Given the description of an element on the screen output the (x, y) to click on. 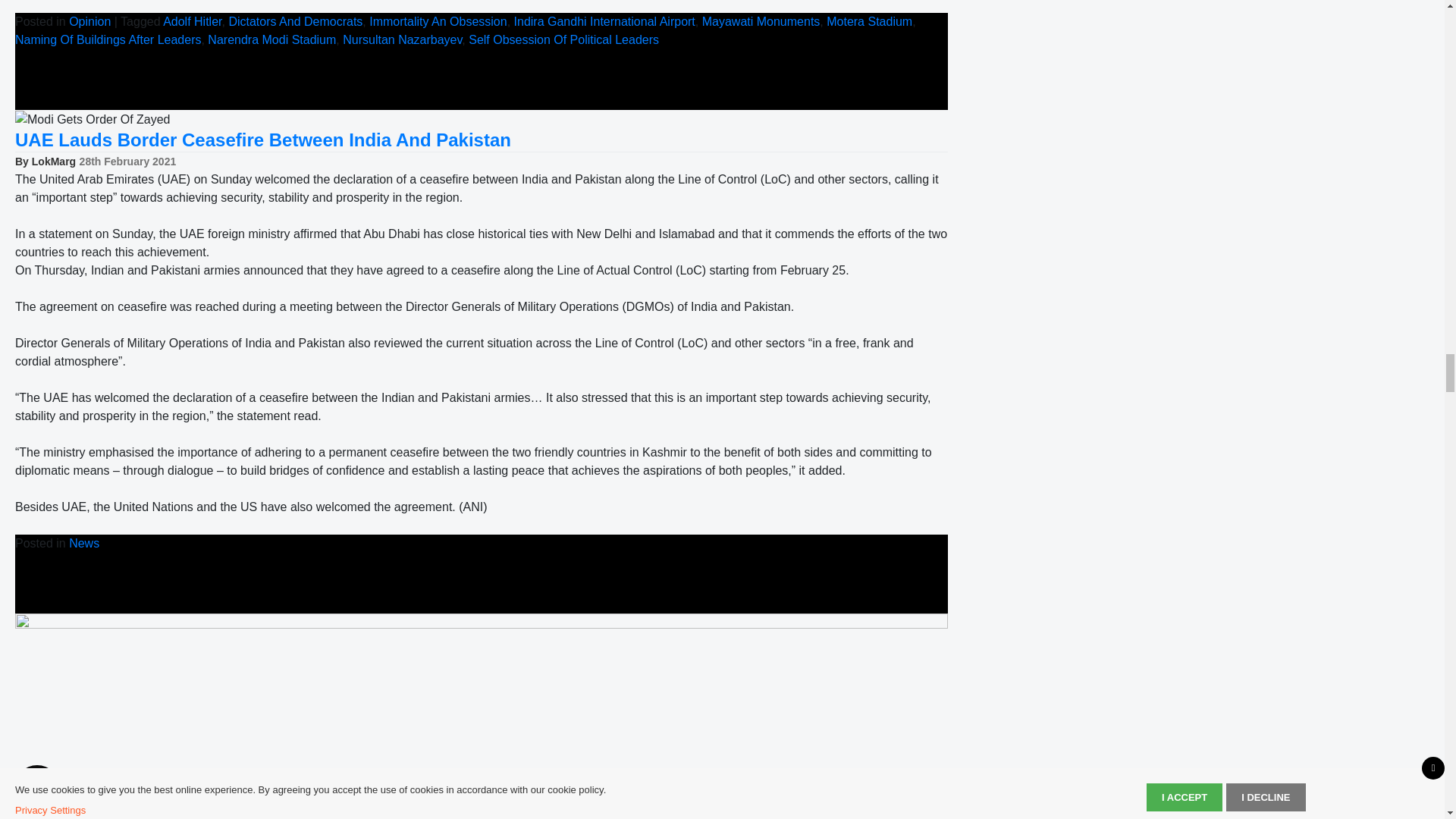
Opinion (89, 21)
Adolf Hitler (192, 21)
